Given the description of an element on the screen output the (x, y) to click on. 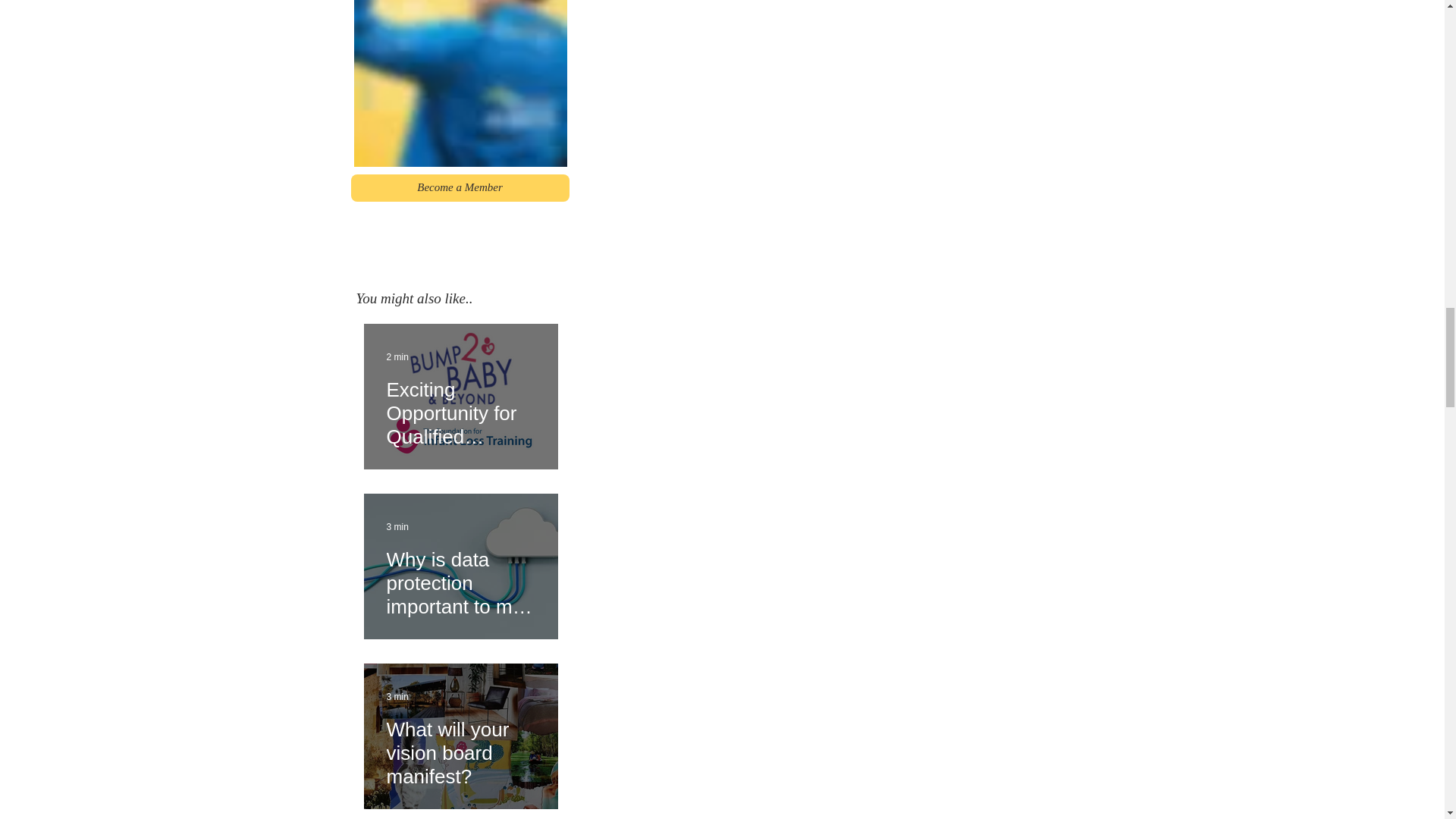
Exciting Opportunity for Qualified Counsellors (461, 406)
Why is data protection important to my practice? (461, 576)
3 min (398, 526)
3 min (398, 696)
Become a Member (459, 187)
What will your vision board manifest? (461, 746)
2 min (398, 357)
